Given the description of an element on the screen output the (x, y) to click on. 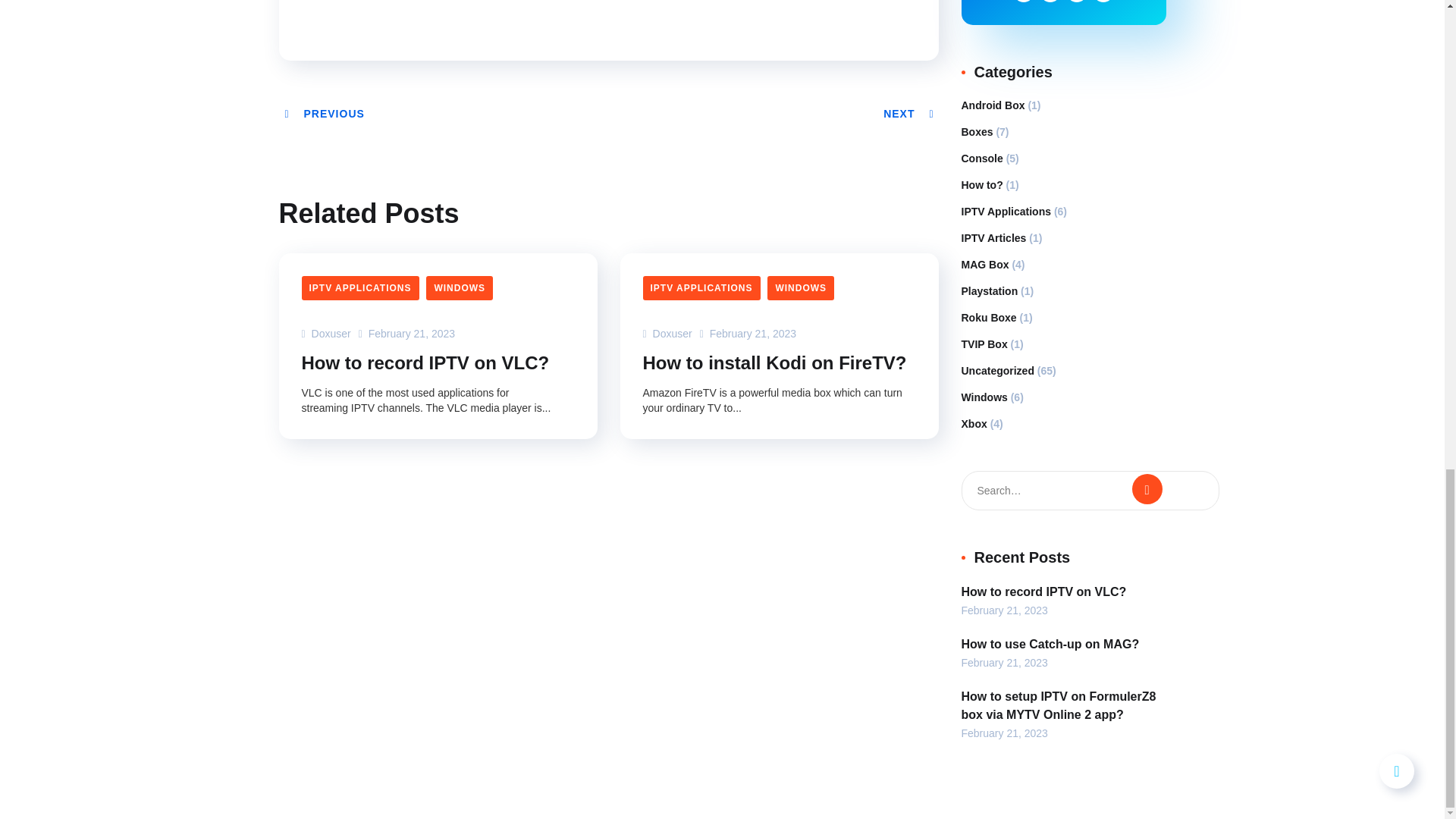
IPTV APPLICATIONS (701, 288)
NEXT (910, 113)
How to record IPTV on VLC? (425, 362)
PREVIOUS (323, 113)
Doxuser (668, 333)
February 21, 2023 (748, 333)
WINDOWS (800, 288)
How to install Kodi on FireTV? (775, 362)
IPTV APPLICATIONS (360, 288)
WINDOWS (459, 288)
